Given the description of an element on the screen output the (x, y) to click on. 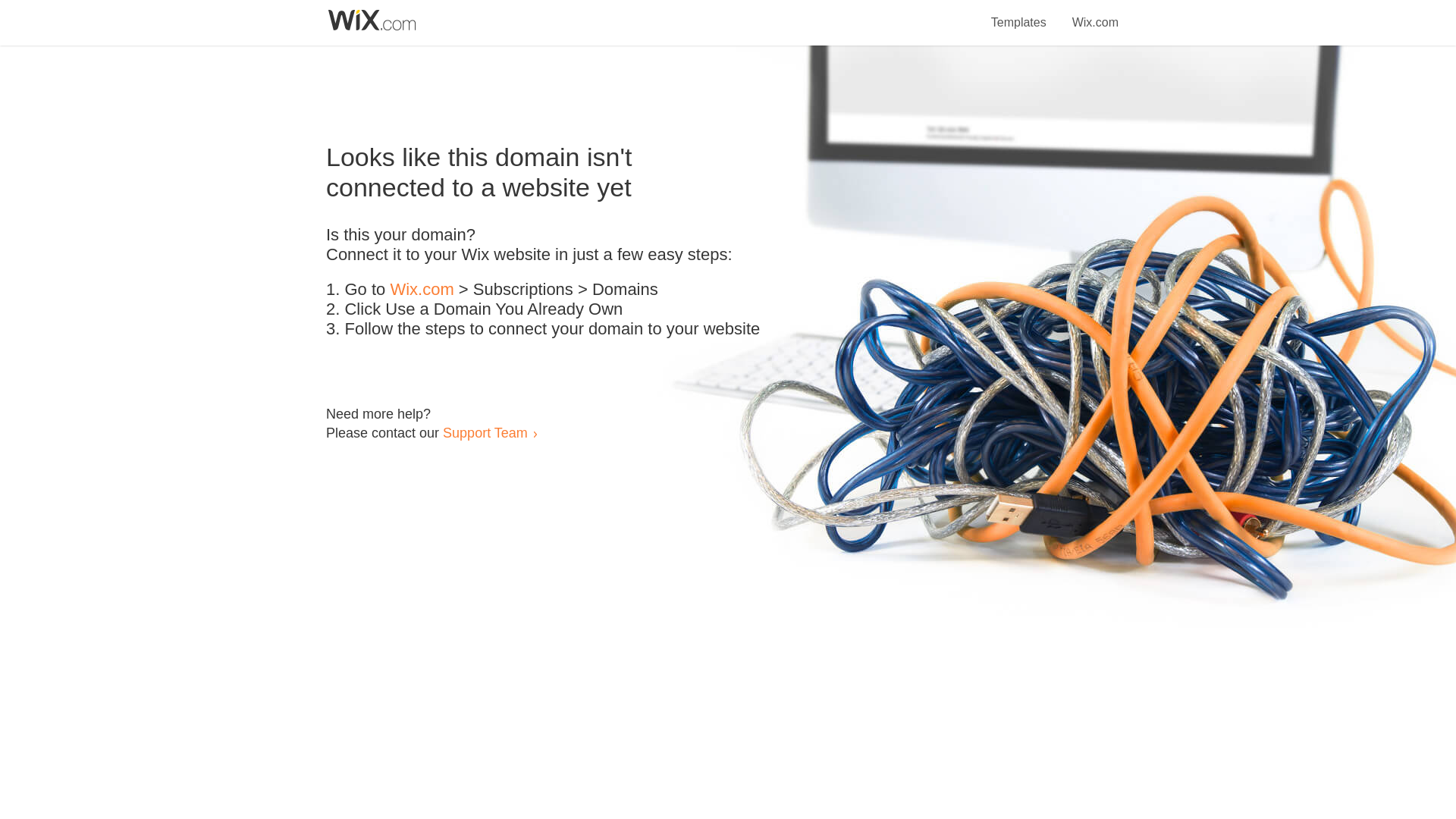
Wix.com (421, 289)
Wix.com (1095, 14)
Templates (1018, 14)
Support Team (484, 432)
